Given the description of an element on the screen output the (x, y) to click on. 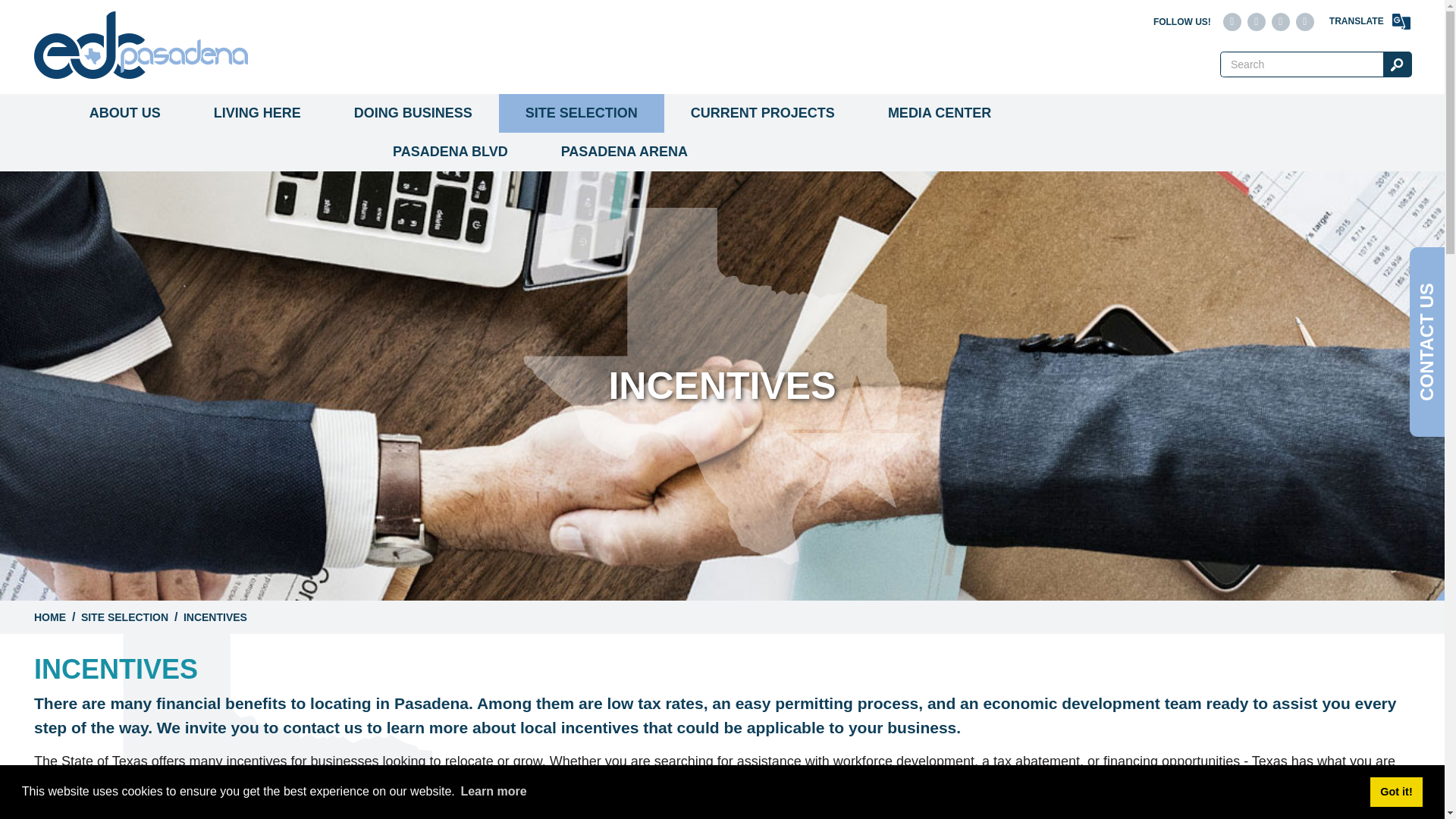
LIVING HERE (257, 113)
Youtube (1304, 22)
Twitter (1232, 22)
DOING BUSINESS (413, 113)
Facebook (1256, 22)
Learn more (493, 791)
Got it! (1396, 791)
Linkedin (1280, 22)
ABOUT US (124, 113)
